Given the description of an element on the screen output the (x, y) to click on. 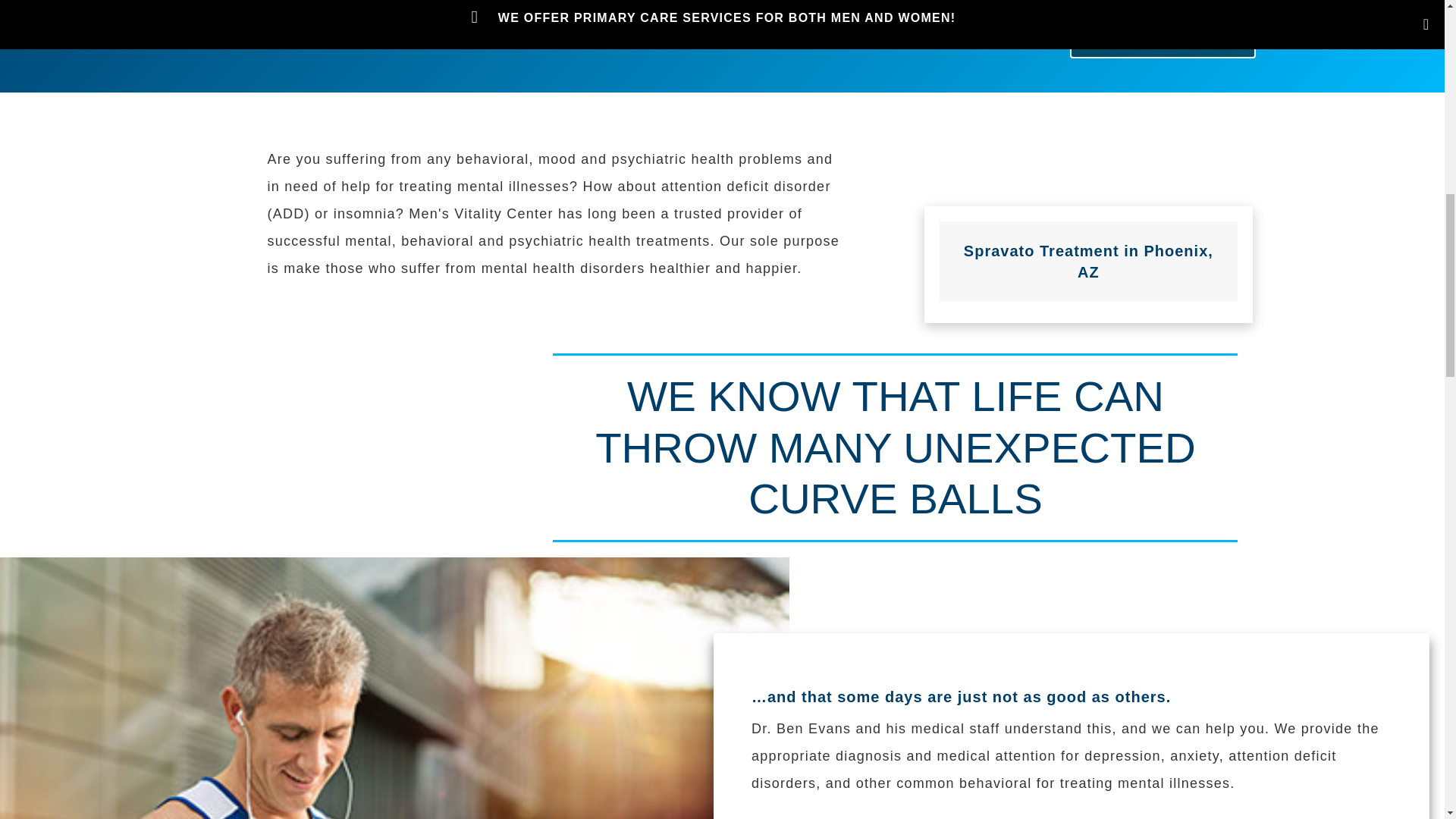
Spravato Treatment in Phoenix, AZ (1088, 261)
Next (1162, 40)
